Given the description of an element on the screen output the (x, y) to click on. 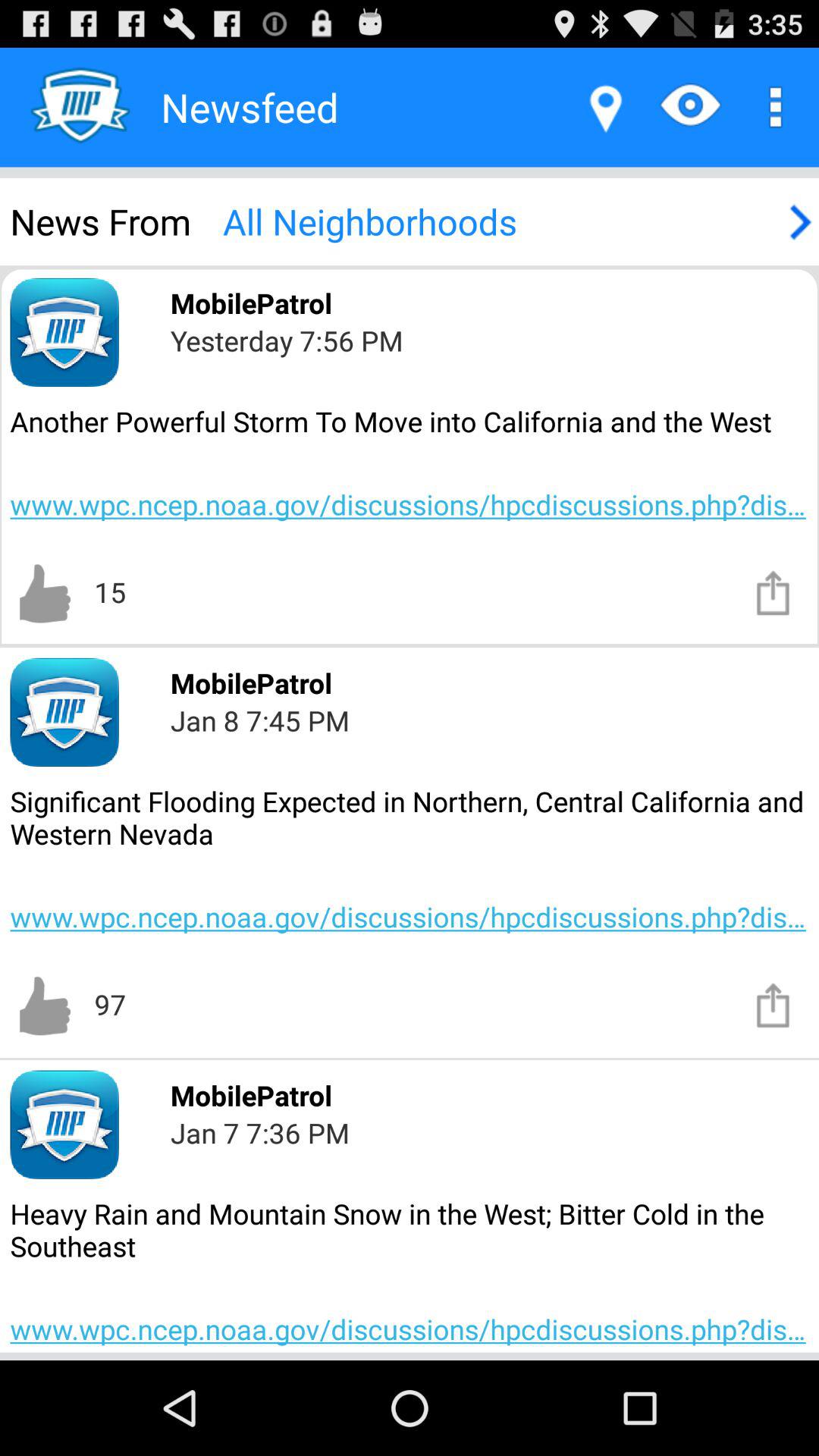
share the article (774, 592)
